Given the description of an element on the screen output the (x, y) to click on. 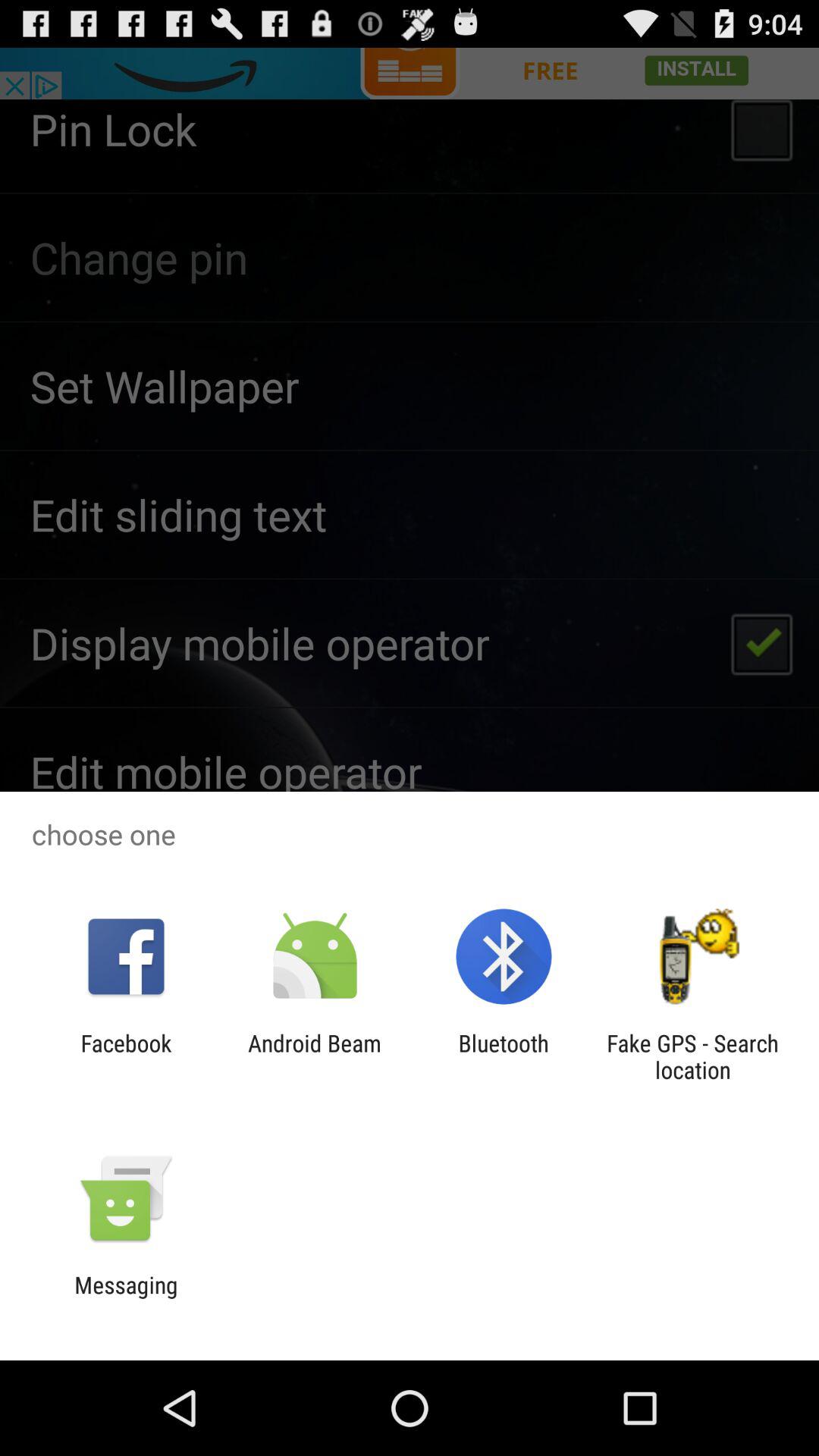
launch the bluetooth (503, 1056)
